Given the description of an element on the screen output the (x, y) to click on. 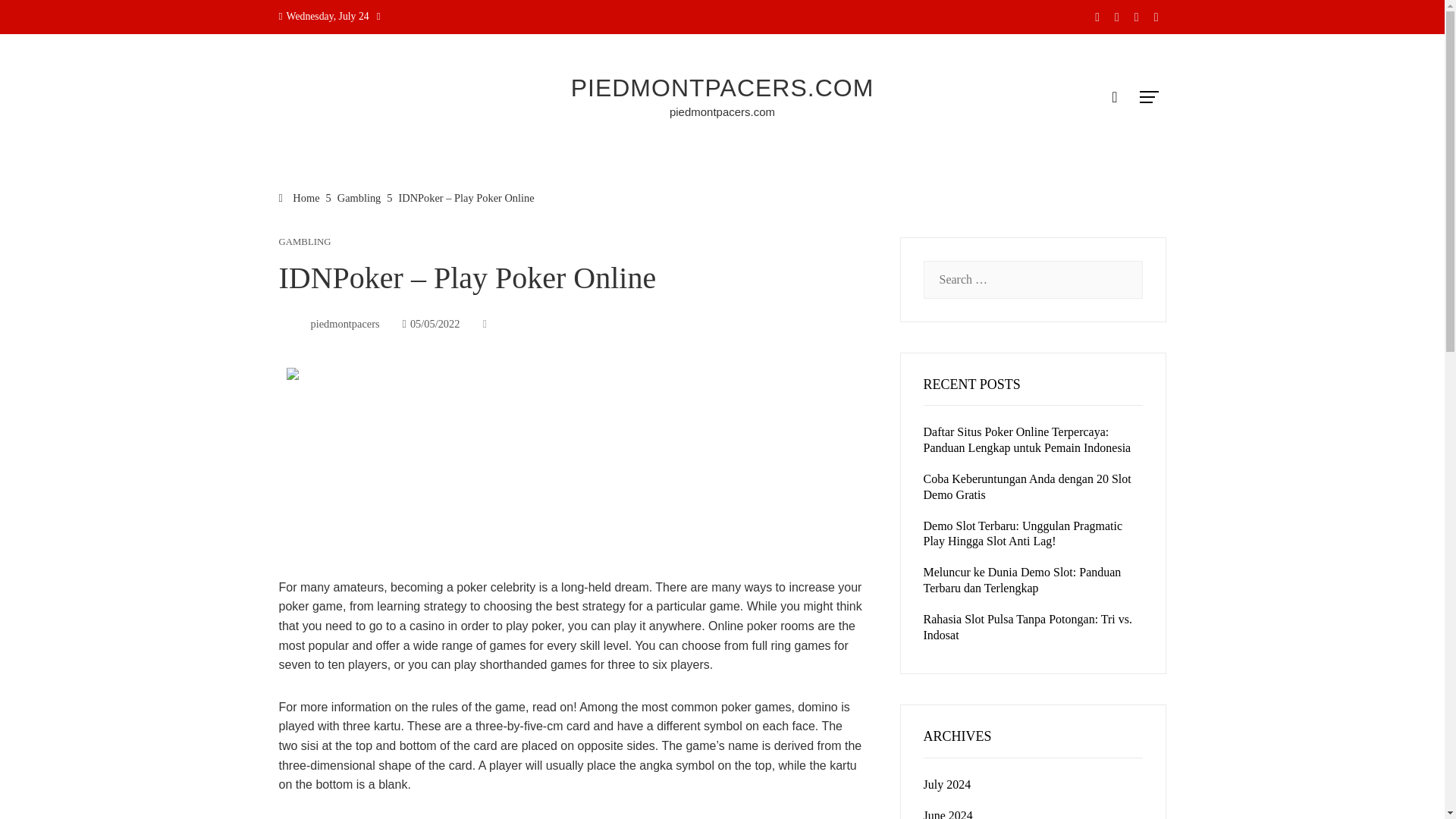
June 2024 (947, 814)
July 2024 (947, 784)
Rahasia Slot Pulsa Tanpa Potongan: Tri vs. Indosat (1027, 626)
Gambling (359, 197)
PIEDMONTPACERS.COM (722, 87)
Search (35, 18)
Coba Keberuntungan Anda dengan 20 Slot Demo Gratis (1027, 486)
Home (299, 197)
piedmontpacers.com (721, 111)
GAMBLING (305, 242)
Meluncur ke Dunia Demo Slot: Panduan Terbaru dan Terlengkap (1022, 579)
